Given the description of an element on the screen output the (x, y) to click on. 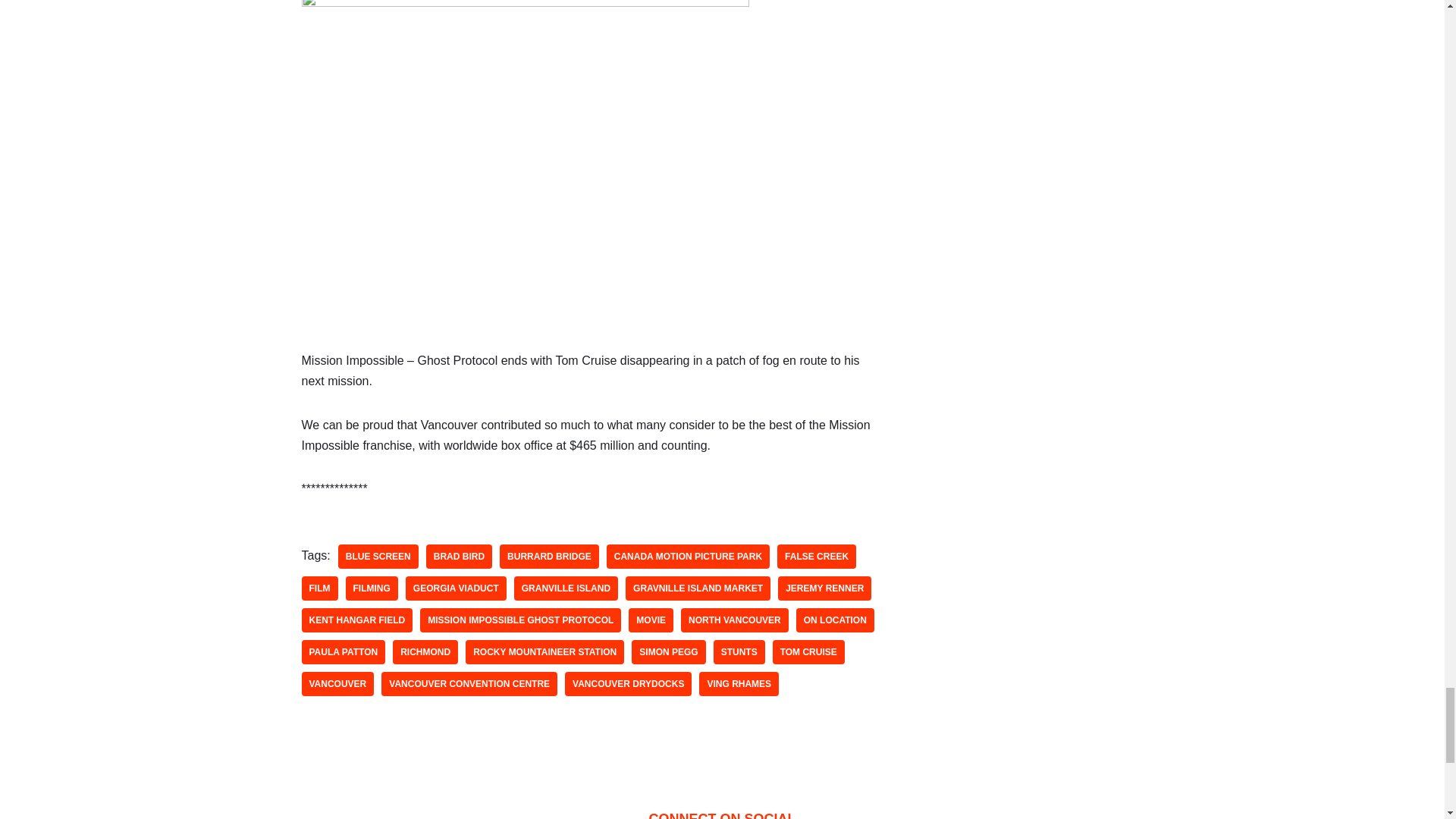
Brad Bird (459, 556)
blue screen (378, 556)
Burrard Bridge (548, 556)
Canada Motion Picture Park (688, 556)
